Given the description of an element on the screen output the (x, y) to click on. 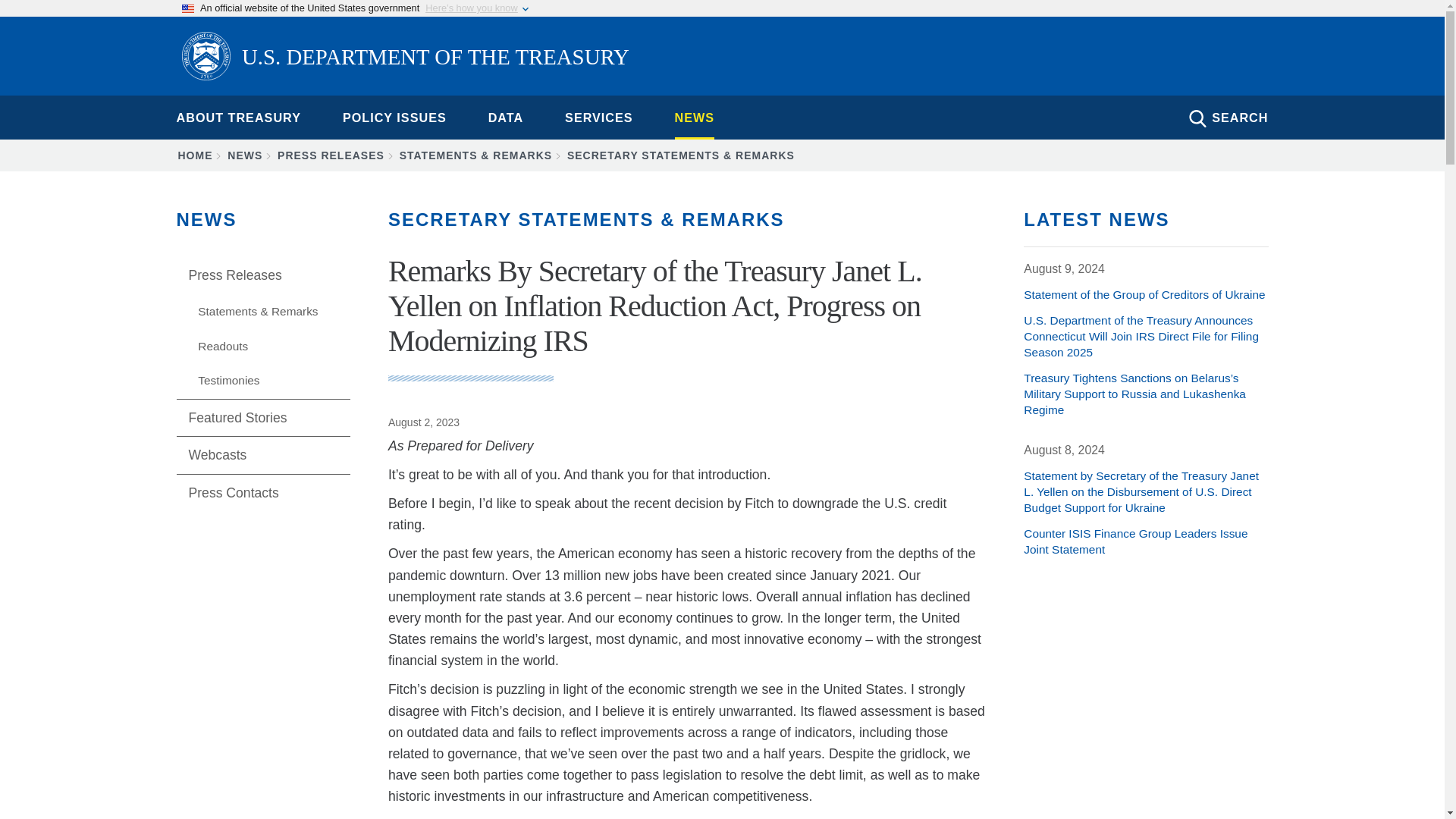
Home (405, 58)
ABOUT TREASURY (238, 117)
U.S. DEPARTMENT OF THE TREASURY (405, 58)
